Given the description of an element on the screen output the (x, y) to click on. 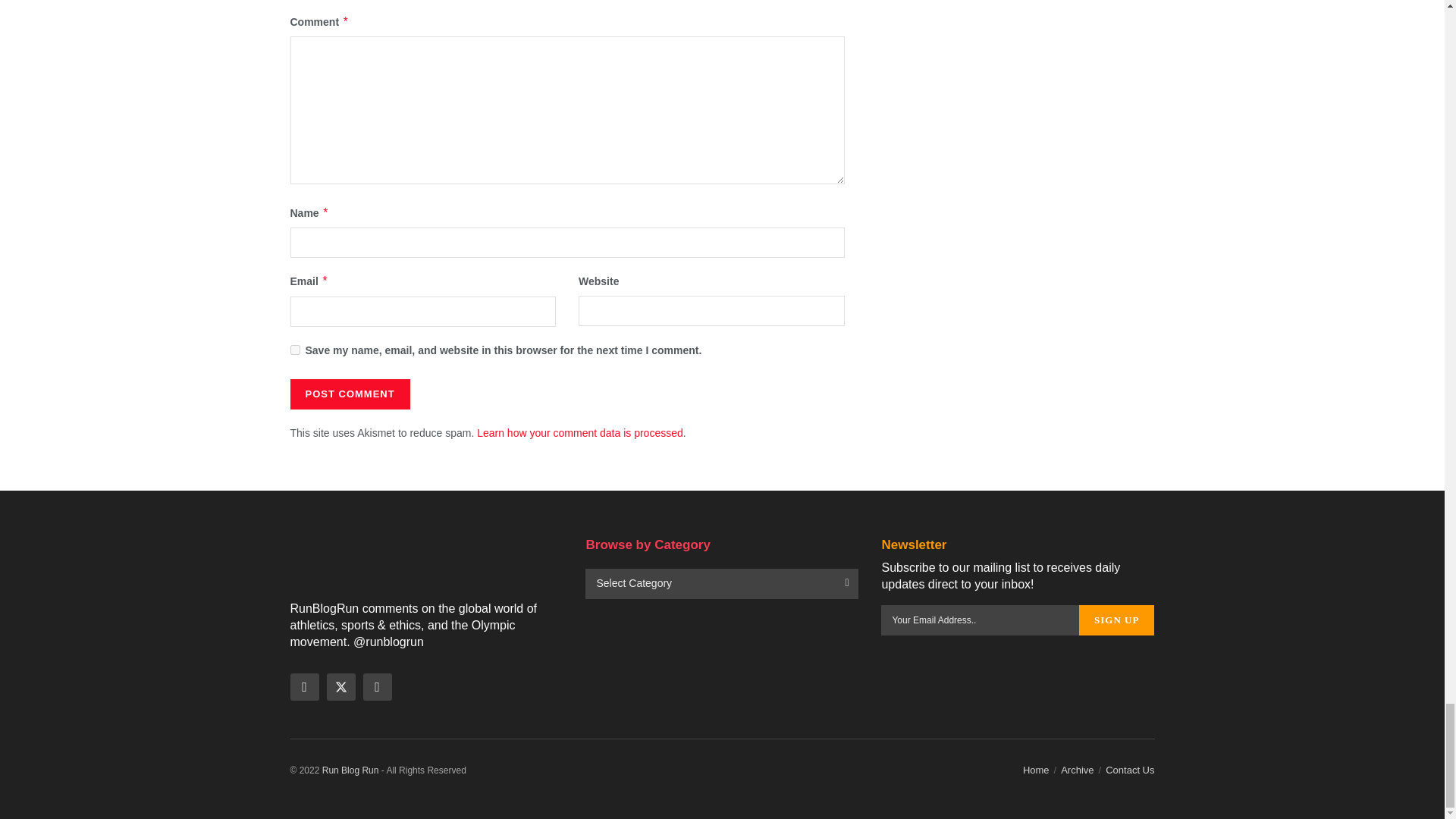
Run Blog Run (349, 769)
Post Comment (349, 394)
yes (294, 349)
SIGN UP (1116, 620)
